Given the description of an element on the screen output the (x, y) to click on. 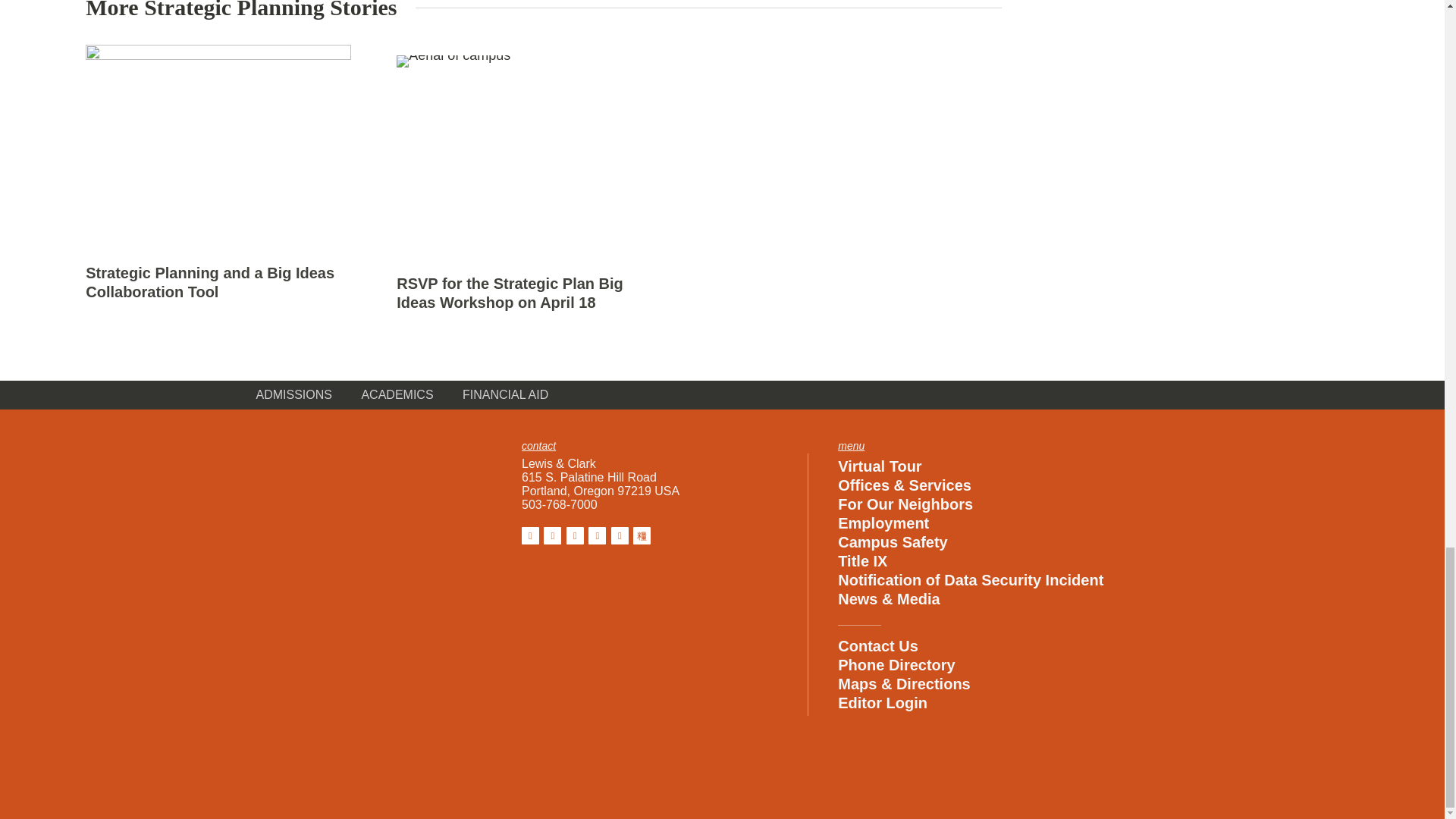
View our Twitter (574, 535)
View our TikTok (641, 535)
View our Facebook page (529, 535)
View our Instagram (551, 535)
RSVP for the Strategic Plan Big Ideas Workshop on April 18 (509, 293)
View our YouTube (619, 535)
View our LinkedIn (596, 535)
Strategic Planning and a Big Ideas Collaboration Tool (209, 282)
